Given the description of an element on the screen output the (x, y) to click on. 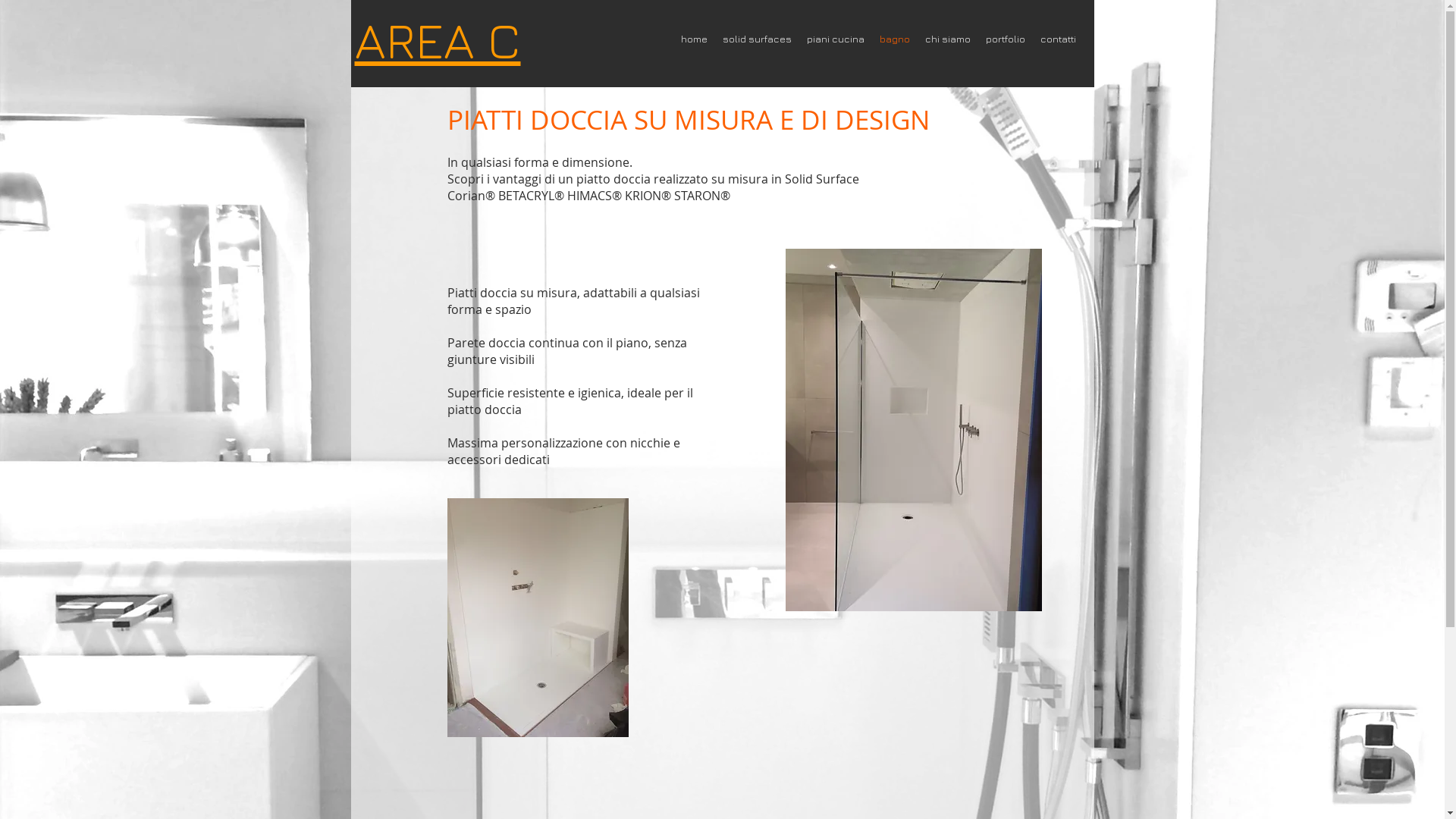
solid surfaces Element type: text (756, 38)
bagno Element type: text (894, 38)
home Element type: text (694, 38)
portfolio Element type: text (1005, 38)
contatti Element type: text (1057, 38)
piani cucina Element type: text (835, 38)
AREA C Element type: text (437, 39)
chi siamo Element type: text (947, 38)
